Given the description of an element on the screen output the (x, y) to click on. 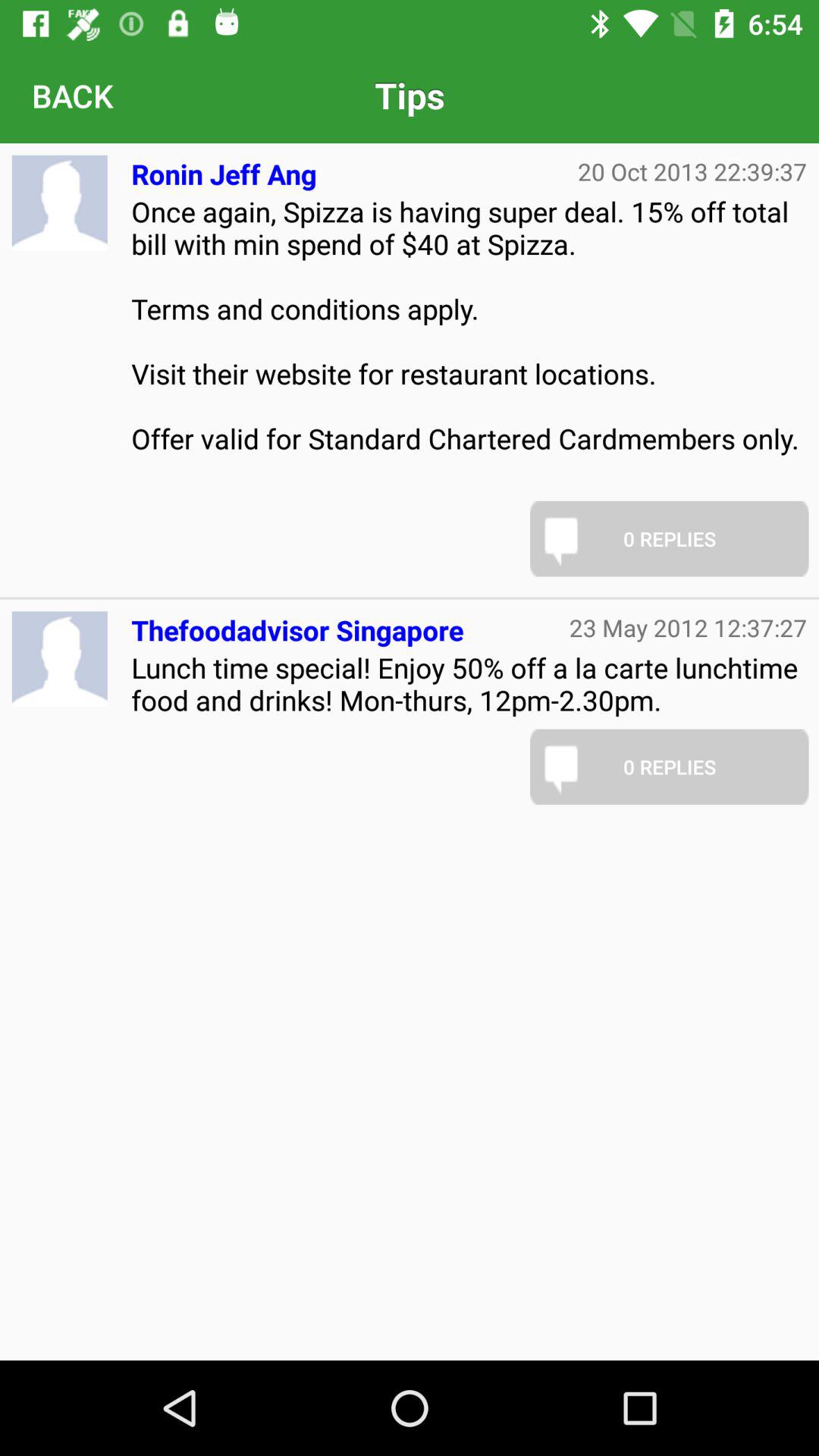
press item to the left of 20 oct 2013 item (223, 167)
